Given the description of an element on the screen output the (x, y) to click on. 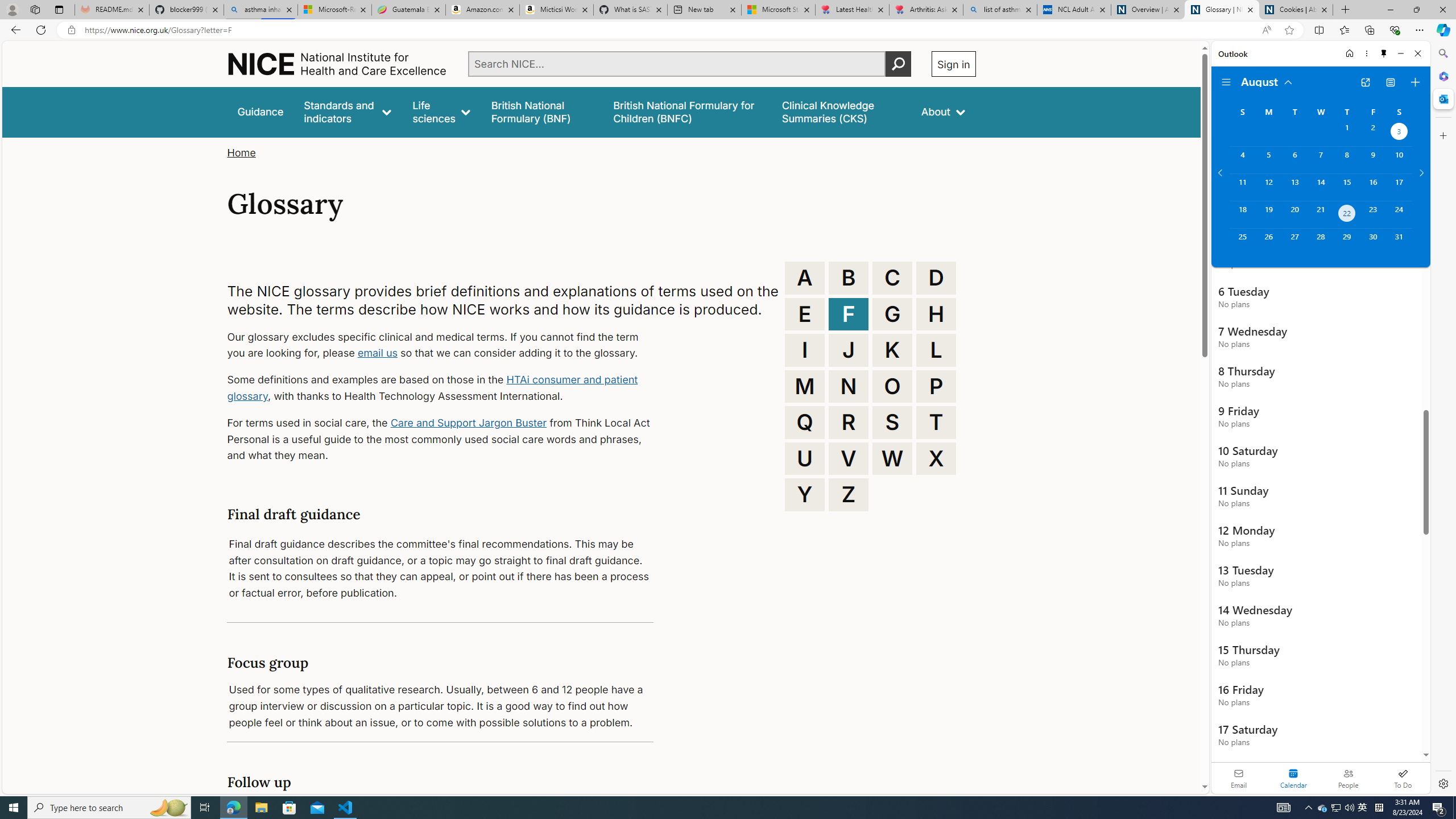
Thursday, August 22, 2024. Today.  (1346, 214)
M (804, 385)
Sunday, August 18, 2024.  (1242, 214)
O (892, 385)
S (892, 422)
U (804, 458)
Wednesday, August 14, 2024.  (1320, 186)
Thursday, August 29, 2024.  (1346, 241)
W (892, 458)
